Given the description of an element on the screen output the (x, y) to click on. 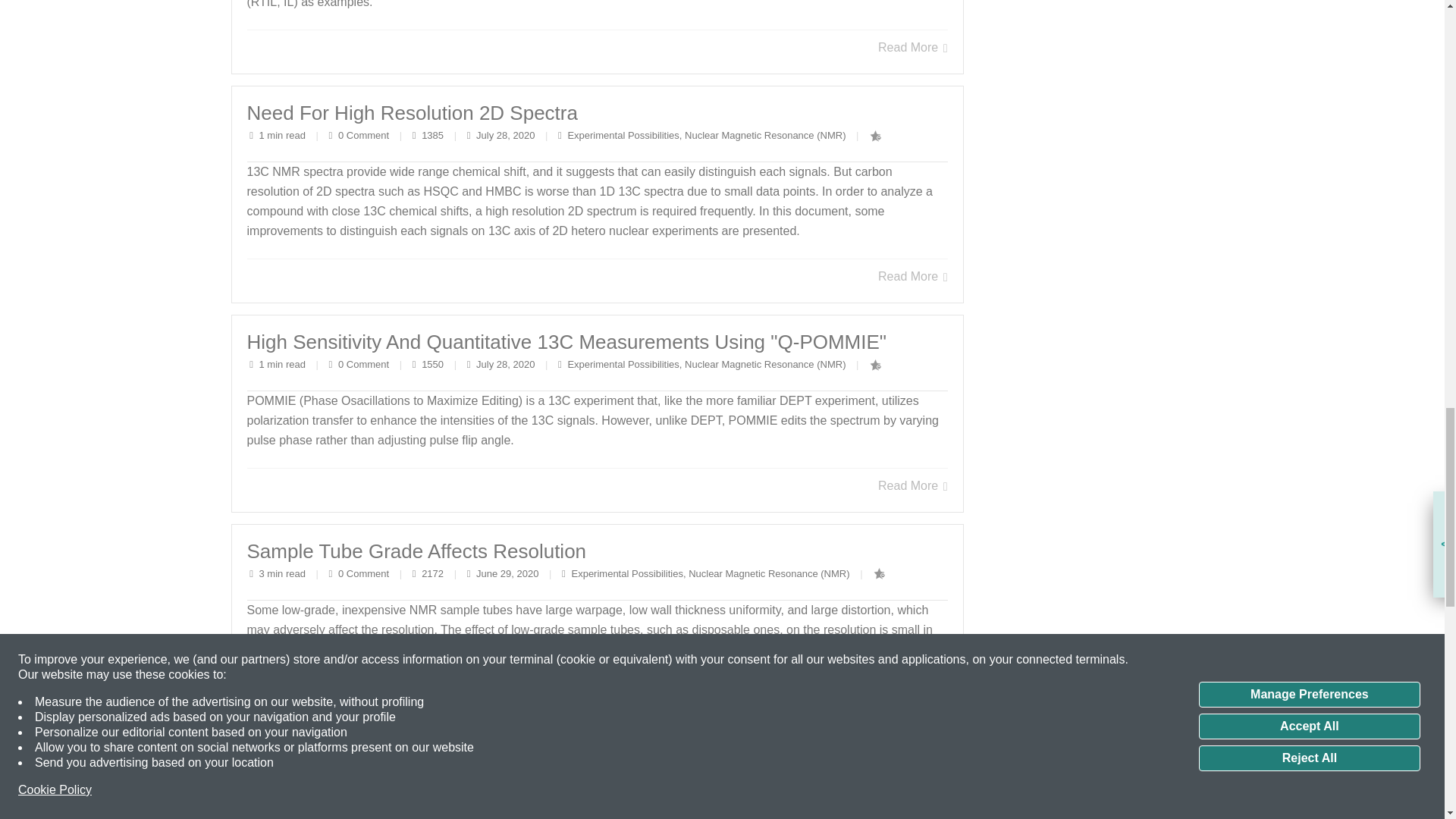
You must be logged in to bookmark (879, 573)
You must be logged in to bookmark (879, 802)
You must be logged in to bookmark (875, 136)
You must be logged in to bookmark (875, 365)
